Given the description of an element on the screen output the (x, y) to click on. 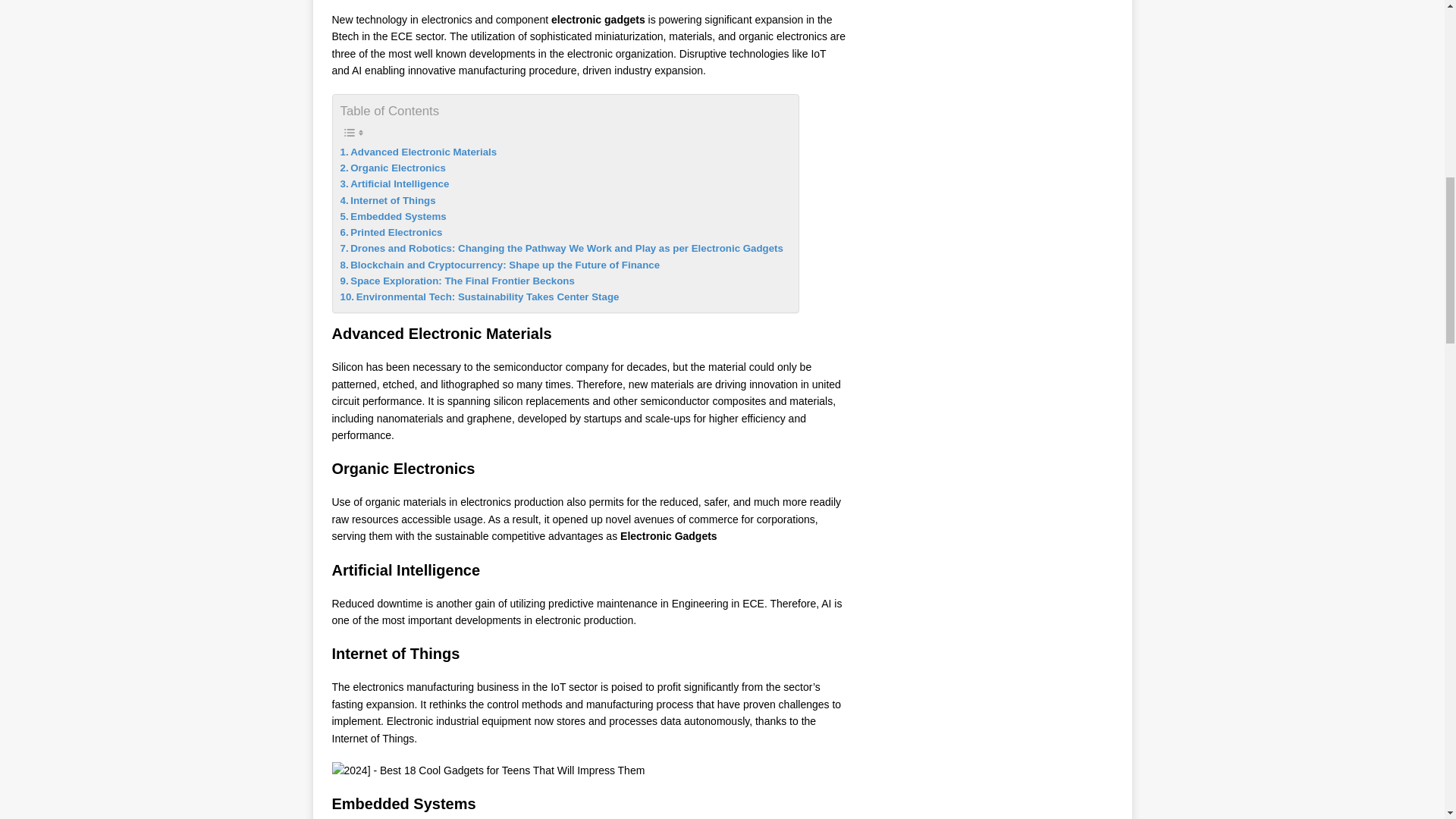
Embedded Systems (392, 216)
Artificial Intelligence (393, 183)
Embedded Systems (392, 216)
Advanced Electronic Materials (417, 151)
Organic Electronics (392, 167)
Printed Electronics (390, 232)
Environmental Tech: Sustainability Takes Center Stage (478, 296)
Artificial Intelligence (393, 183)
Space Exploration: The Final Frontier Beckons (456, 280)
Internet of Things (387, 200)
Space Exploration: The Final Frontier Beckons (456, 280)
Organic Electronics (392, 167)
Advanced Electronic Materials (417, 151)
